Given the description of an element on the screen output the (x, y) to click on. 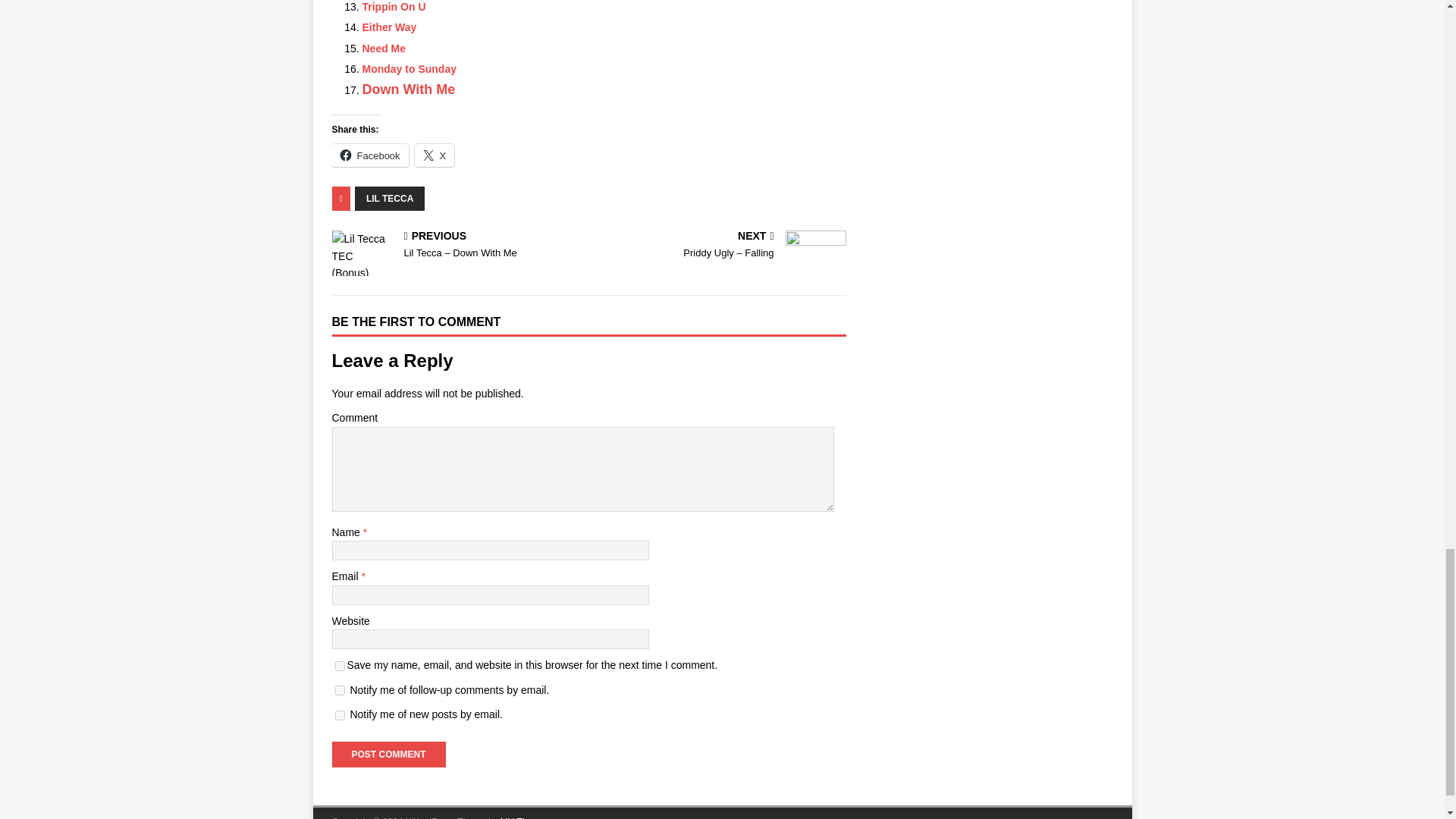
Click to share on Facebook (370, 155)
Down With Me (408, 89)
Click to share on X (434, 155)
subscribe (339, 690)
Post Comment (388, 754)
Facebook (370, 155)
Post Comment (388, 754)
yes (339, 665)
Monday to Sunday (409, 69)
Need Me (384, 48)
